Given the description of an element on the screen output the (x, y) to click on. 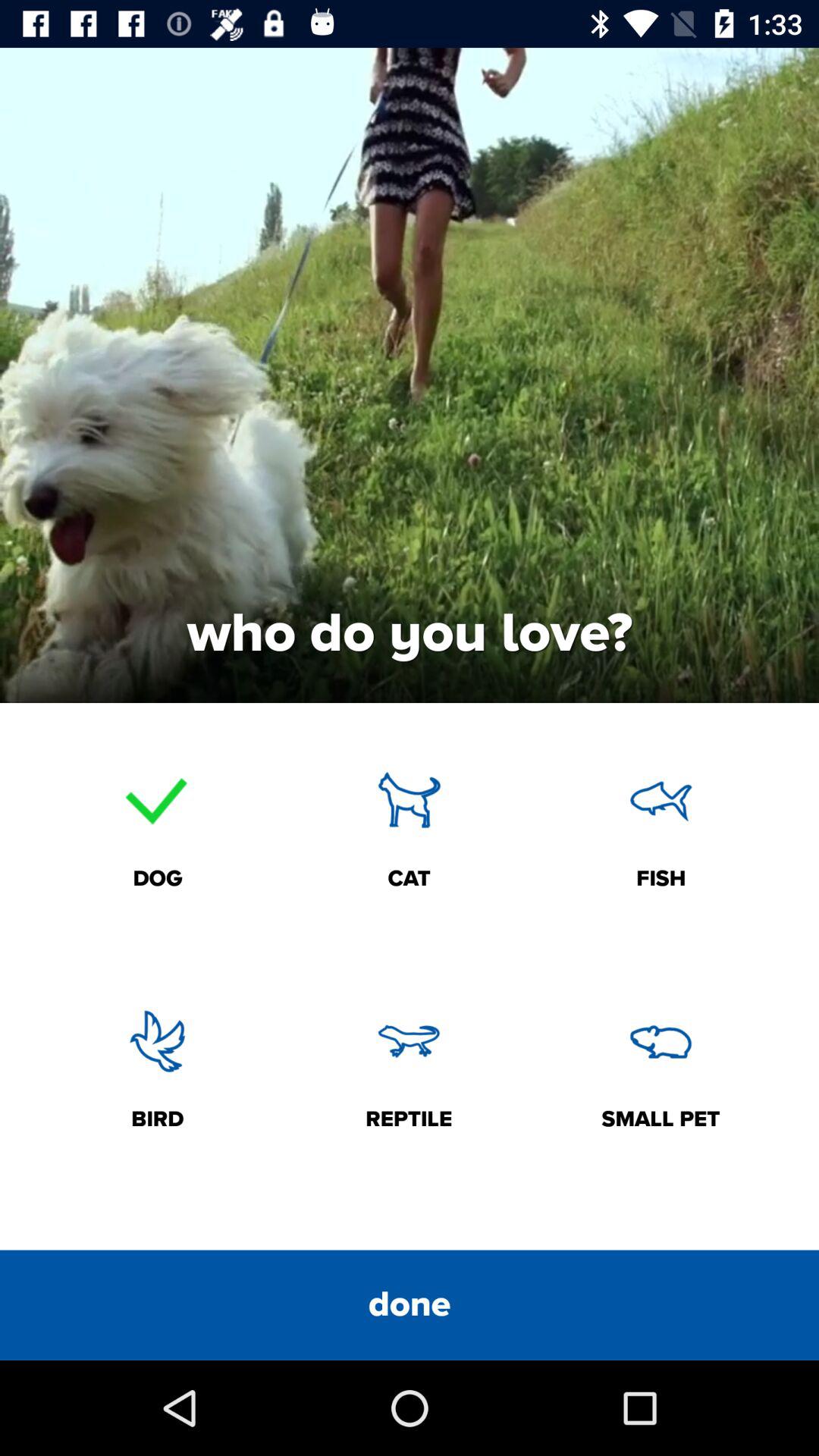
select the icon which is above the small pet (661, 1040)
click on the fish icon (661, 800)
click on the bird icon (157, 1040)
